Given the description of an element on the screen output the (x, y) to click on. 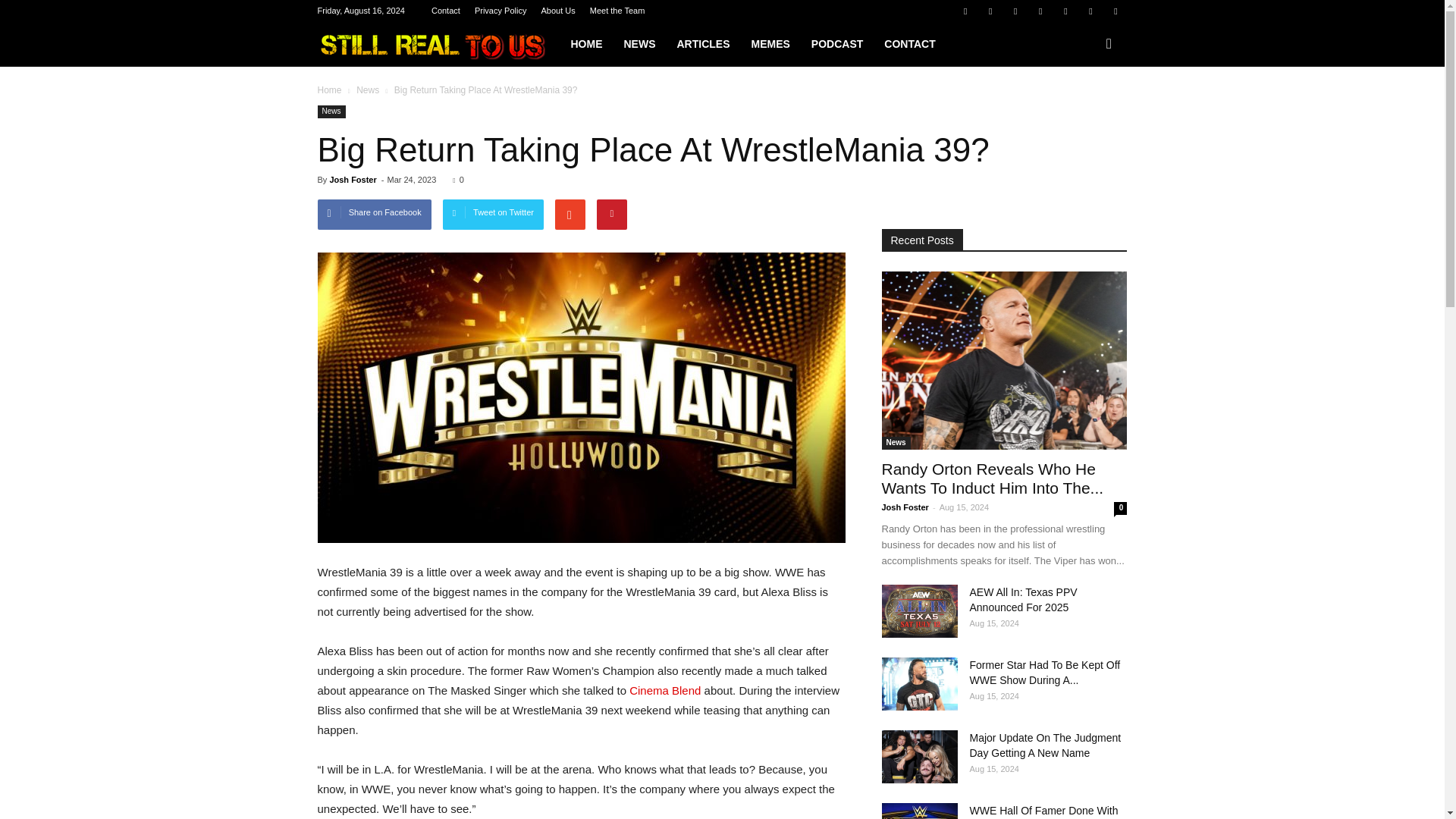
Contact (445, 10)
Soundcloud (1065, 10)
Pinterest (1040, 10)
MEMES (769, 43)
HOME (585, 43)
PODCAST (836, 43)
CONTACT (908, 43)
Instagram (1015, 10)
StillRealToUs.com (438, 43)
Privacy Policy (499, 10)
